Given the description of an element on the screen output the (x, y) to click on. 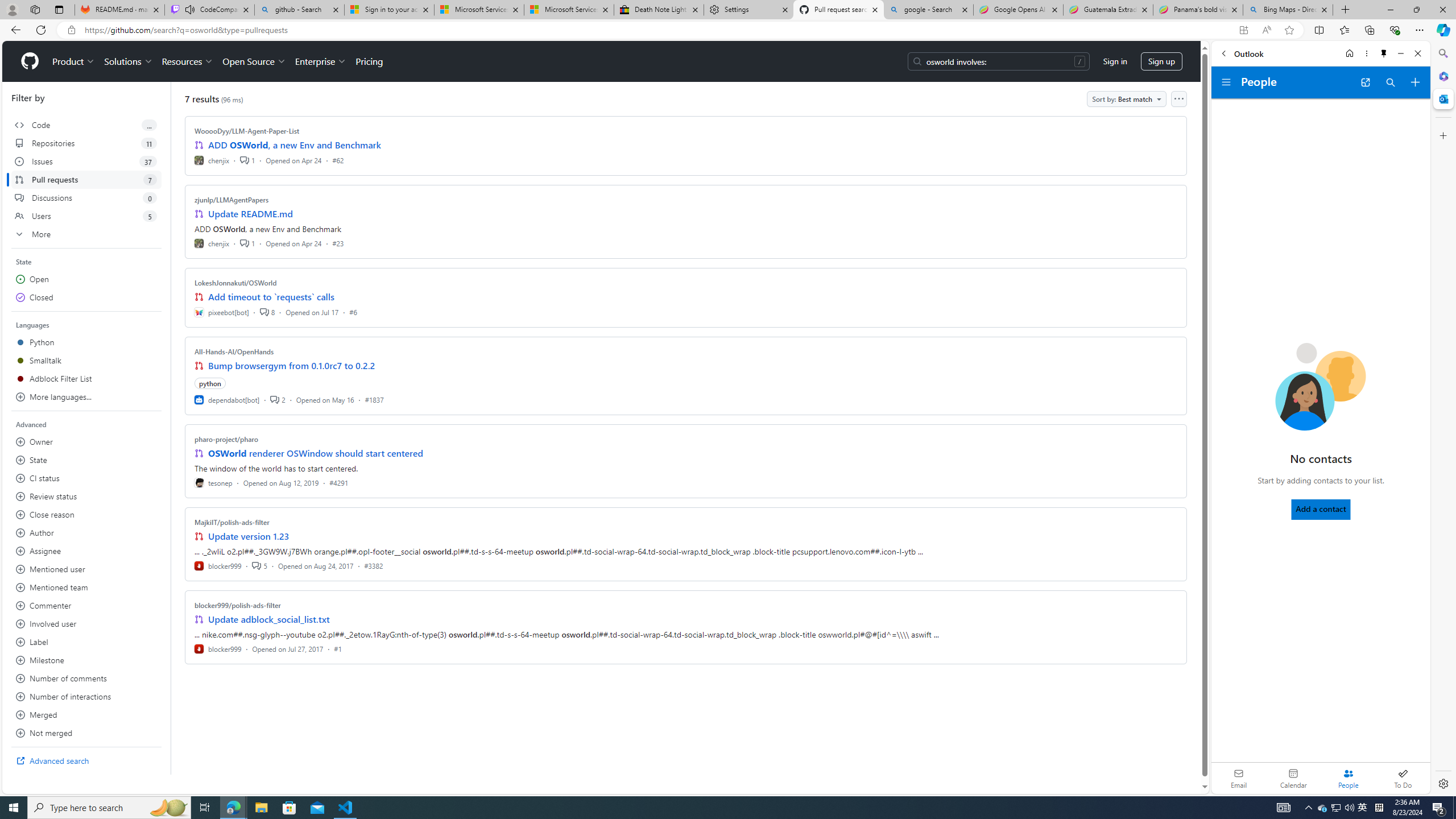
Resources (187, 60)
chenjix (211, 242)
8 (267, 311)
Bump browsergym from 0.1.0rc7 to 0.2.2 (291, 365)
#23 (337, 242)
Folder navigation (1225, 82)
blocker999/polish-ads-filter (238, 605)
